Given the description of an element on the screen output the (x, y) to click on. 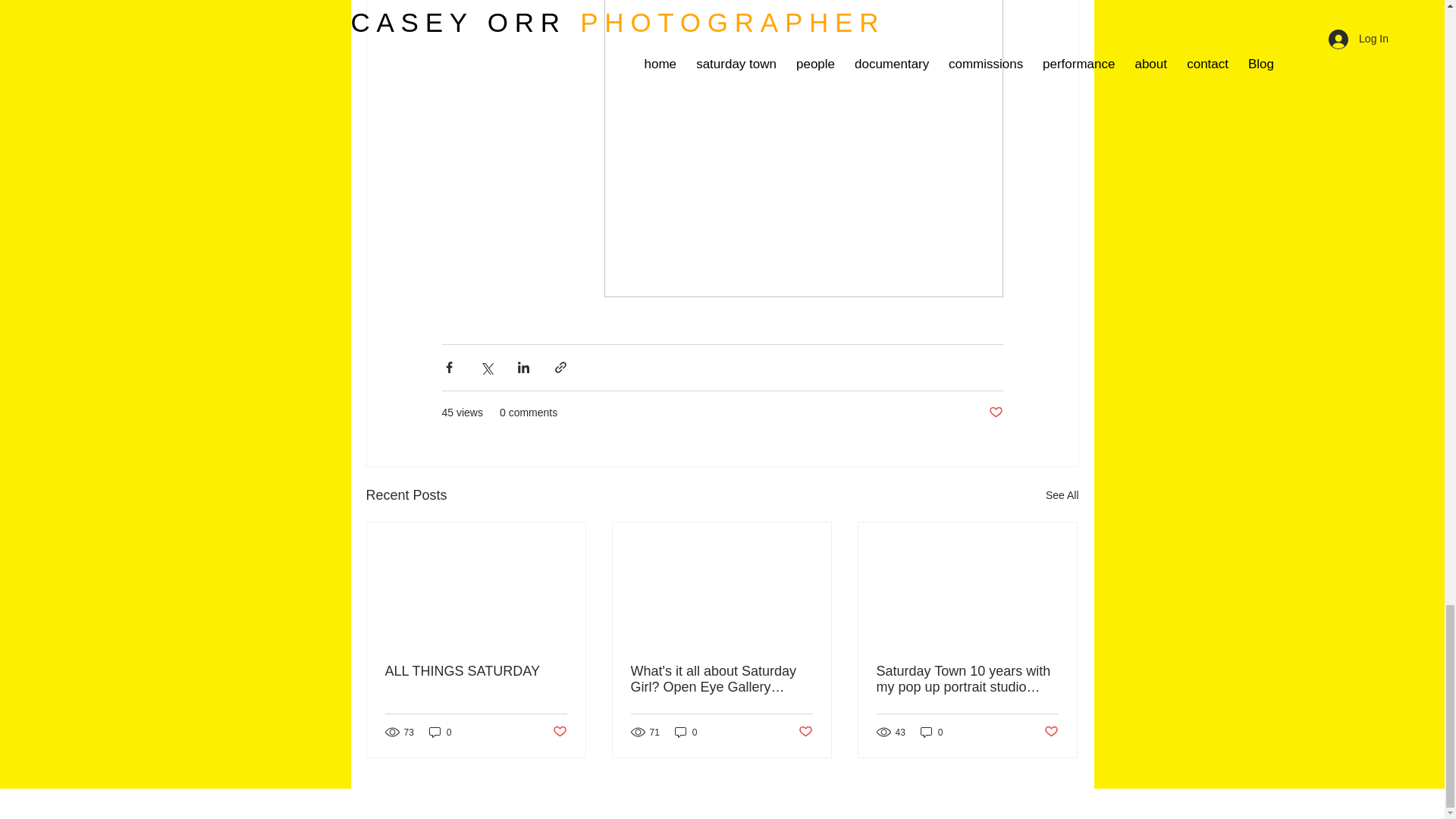
See All (1061, 495)
Post not marked as liked (995, 412)
ALL THINGS SATURDAY (476, 671)
